Given the description of an element on the screen output the (x, y) to click on. 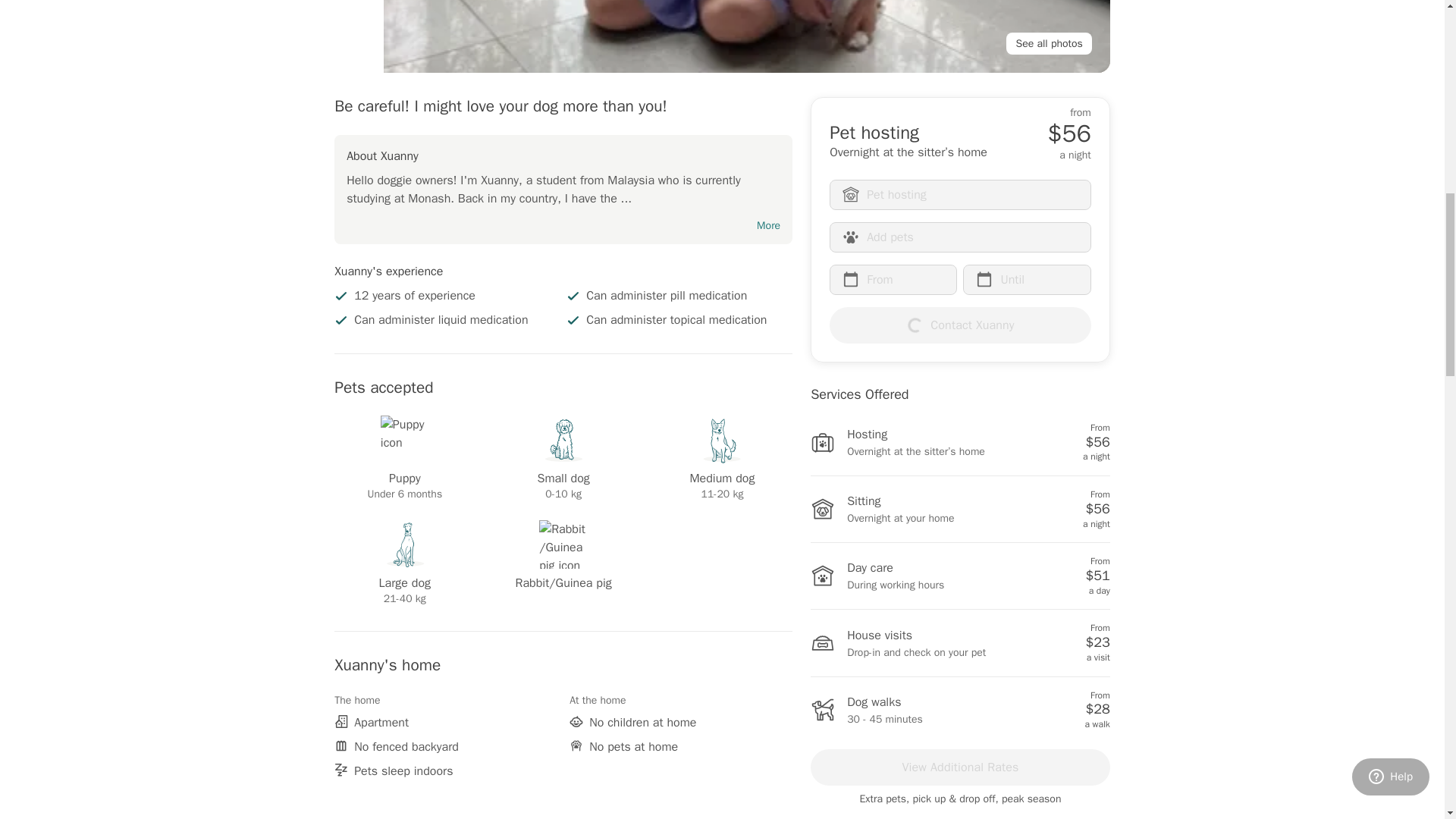
View Additional Rates (959, 767)
See all photos (1048, 43)
Contact Xuanny (959, 325)
Pet hosting (959, 194)
